Given the description of an element on the screen output the (x, y) to click on. 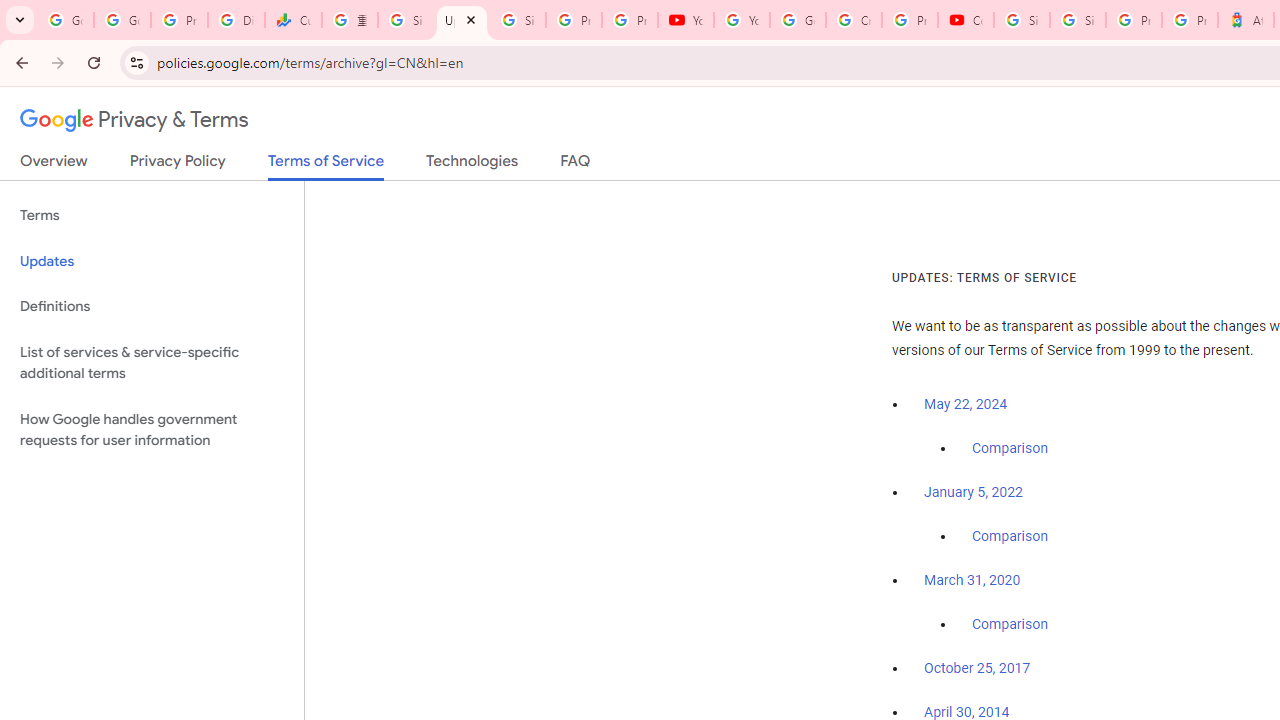
March 31, 2020 (972, 580)
Google Account Help (797, 20)
YouTube (685, 20)
Content Creator Programs & Opportunities - YouTube Creators (966, 20)
